Given the description of an element on the screen output the (x, y) to click on. 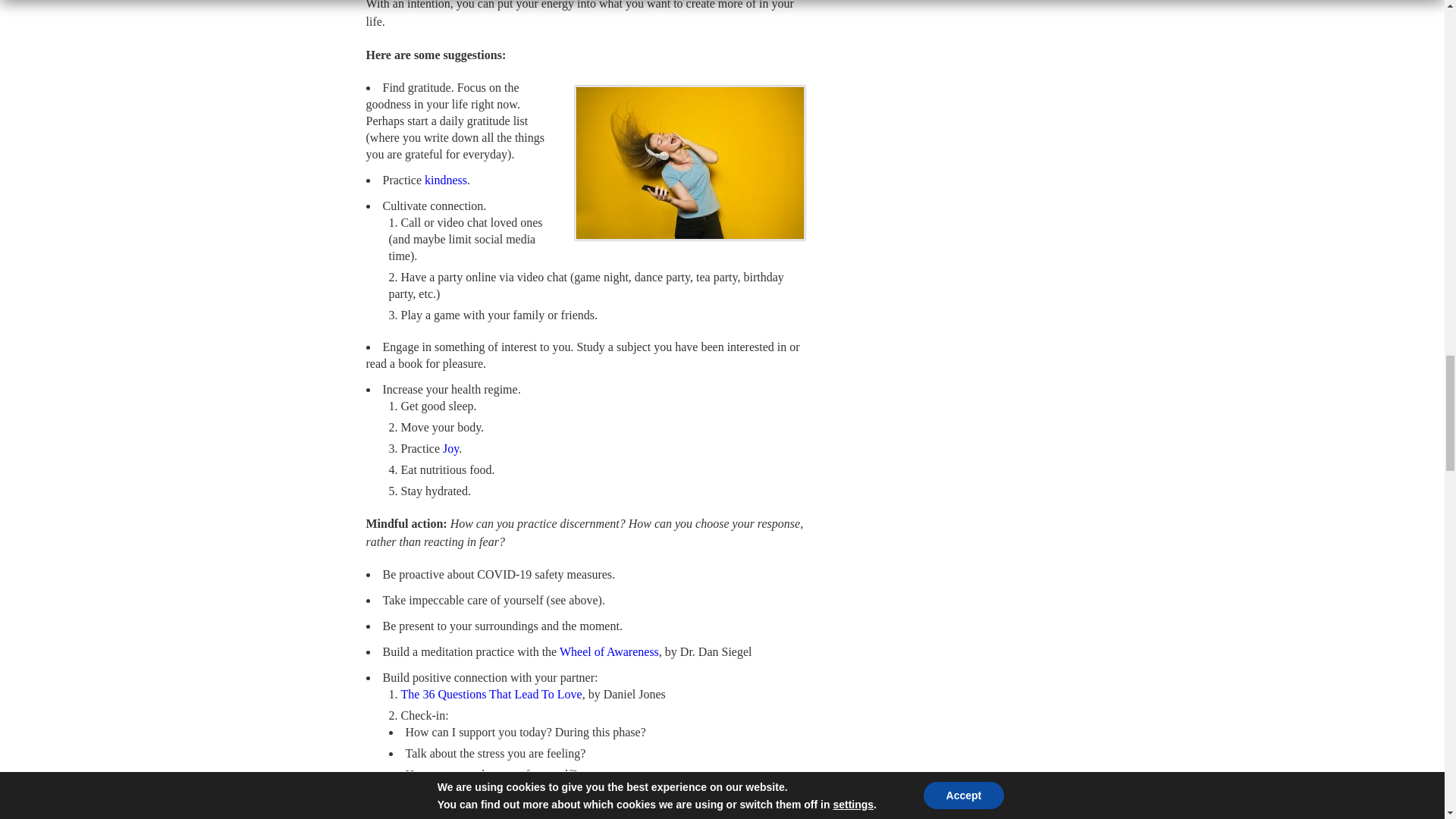
Wheel of Awareness (609, 651)
The 36 Questions That Lead To Love (490, 694)
kindness (446, 179)
Joy (450, 448)
